Given the description of an element on the screen output the (x, y) to click on. 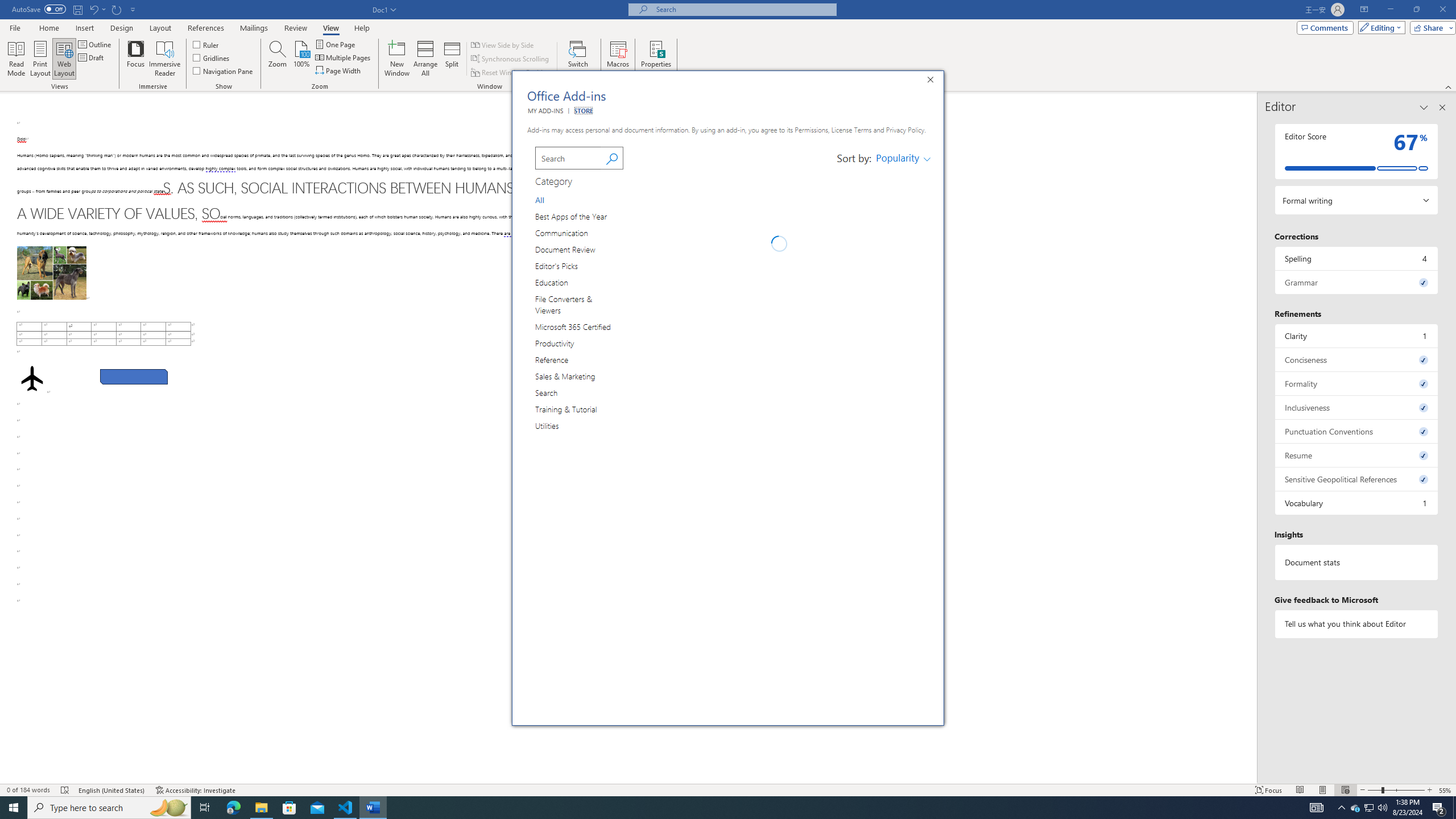
Category Group Sales & Marketing 11 of 14 (567, 375)
Synchronous Scrolling (510, 58)
Undo Paragraph Alignment (96, 9)
Category Group Editor's Picks 5 of 14 (558, 265)
Category Group Search 12 of 14 (548, 392)
Word - 1 running window (373, 807)
Formality, 0 issues. Press space or enter to review items. (1356, 383)
Spell checker and Grammar checker by Scribens icon (646, 626)
Split (451, 58)
